Given the description of an element on the screen output the (x, y) to click on. 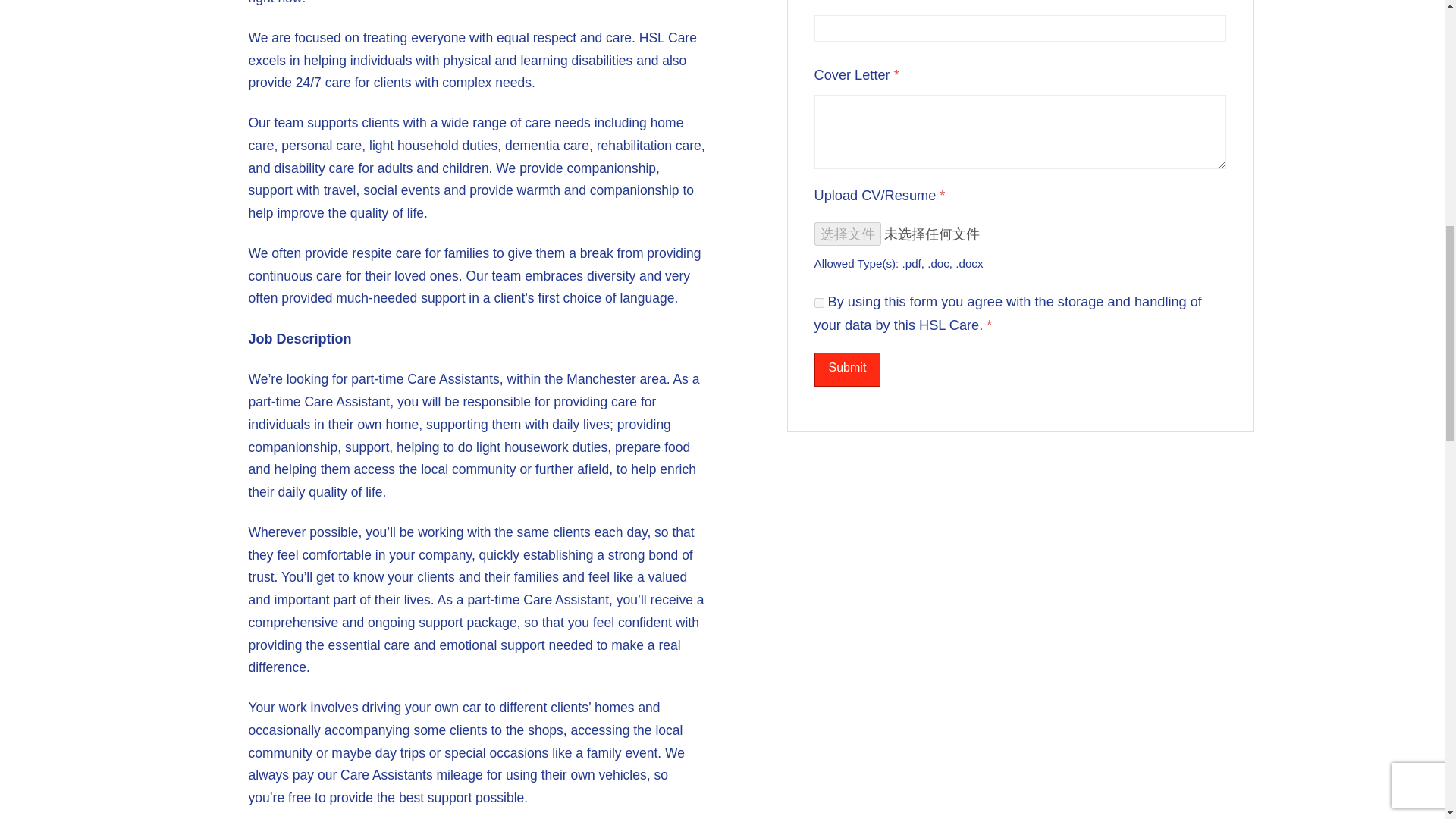
Submit (846, 369)
yes (818, 302)
